Given the description of an element on the screen output the (x, y) to click on. 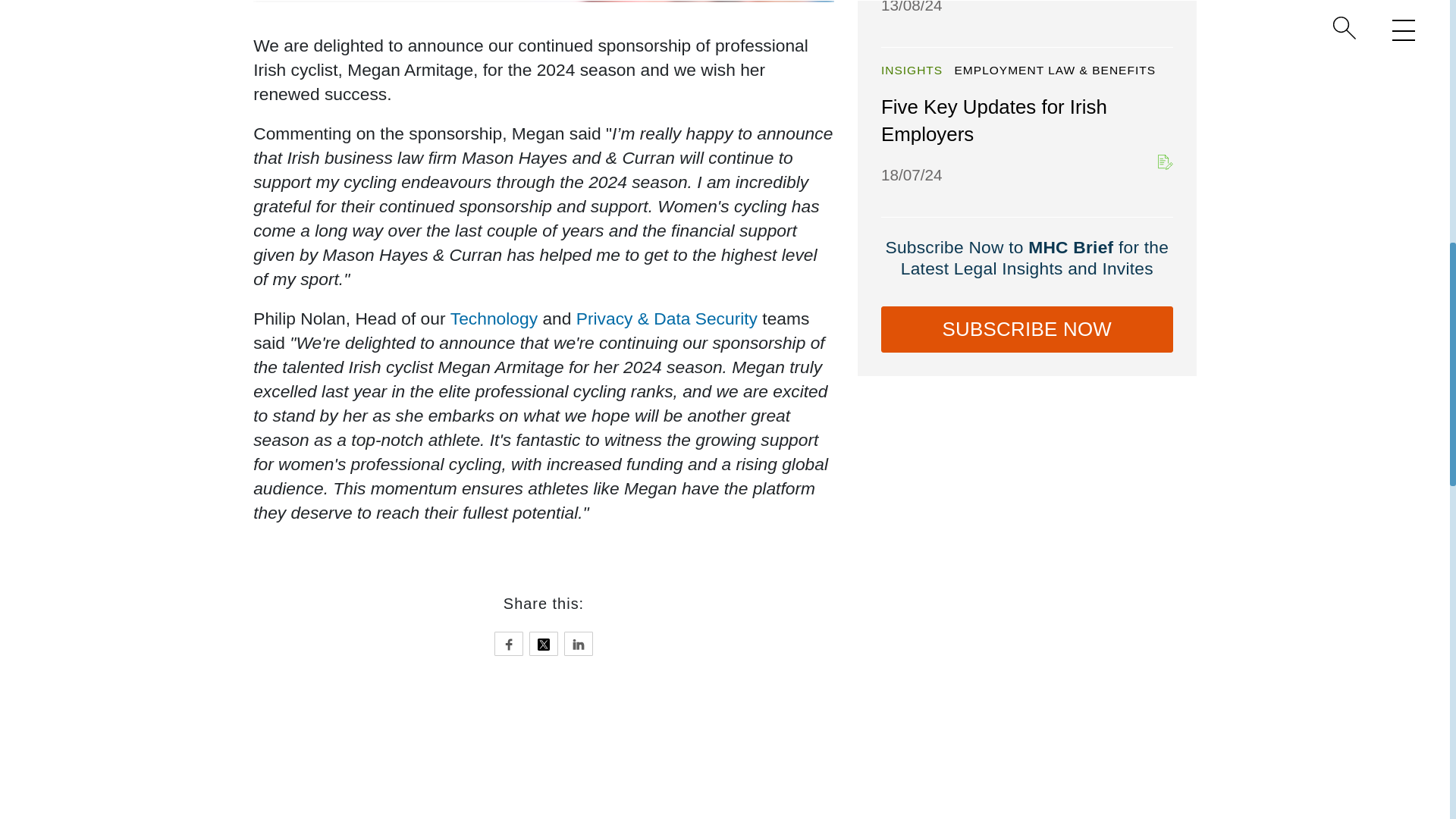
SUBSCRIBE NOW (1026, 329)
Technology (493, 318)
Five Key Updates for Irish Employers (993, 120)
